Given the description of an element on the screen output the (x, y) to click on. 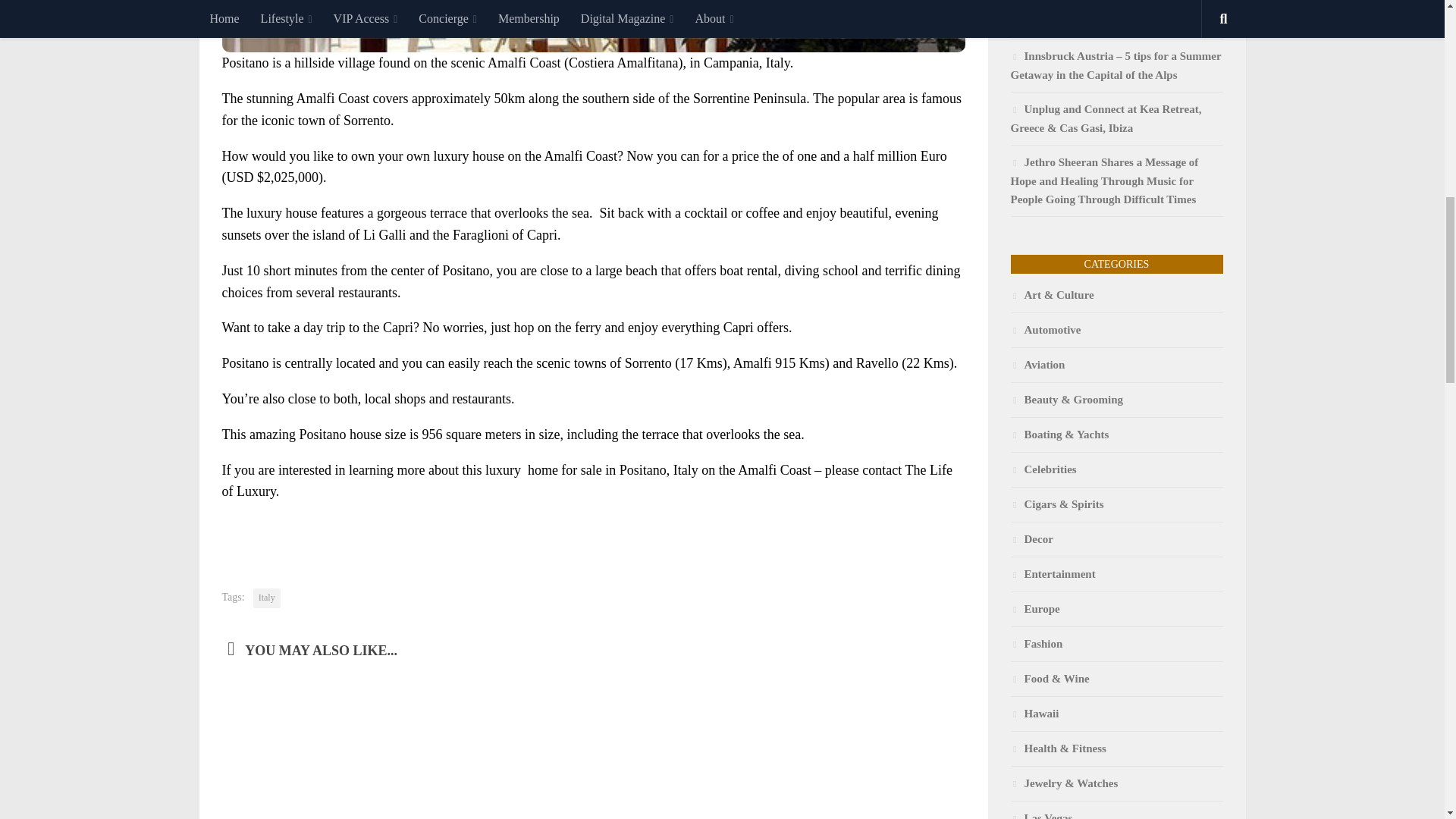
Print Content (953, 531)
